Given the description of an element on the screen output the (x, y) to click on. 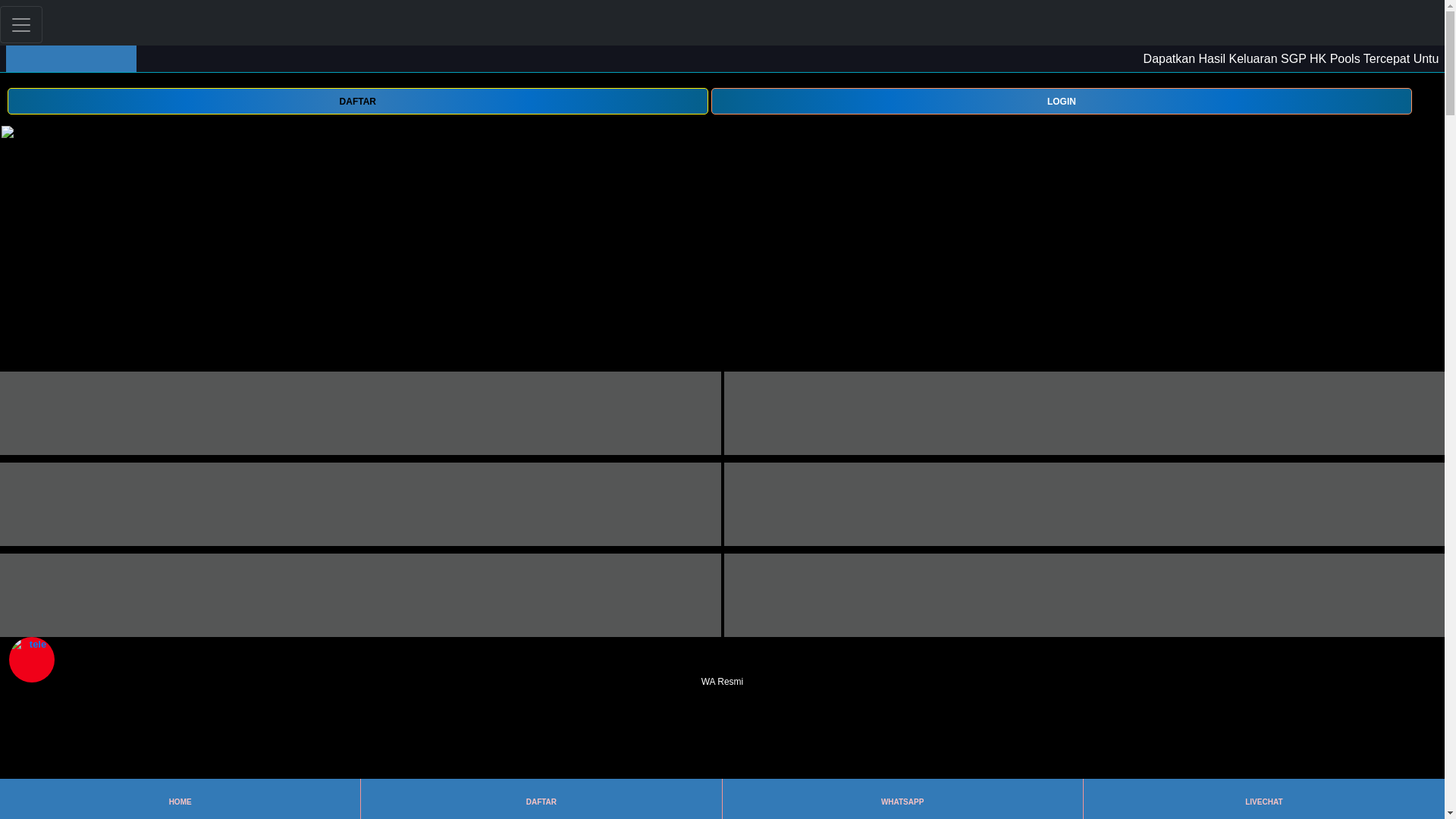
DAFTAR (357, 100)
LOGIN (1061, 100)
HOME (179, 798)
LOGIN (1061, 100)
DAFTAR (357, 100)
WHATSAPP (901, 798)
DAFTAR (540, 798)
WA Resmi (722, 672)
LIVECHAT (1263, 798)
